Given the description of an element on the screen output the (x, y) to click on. 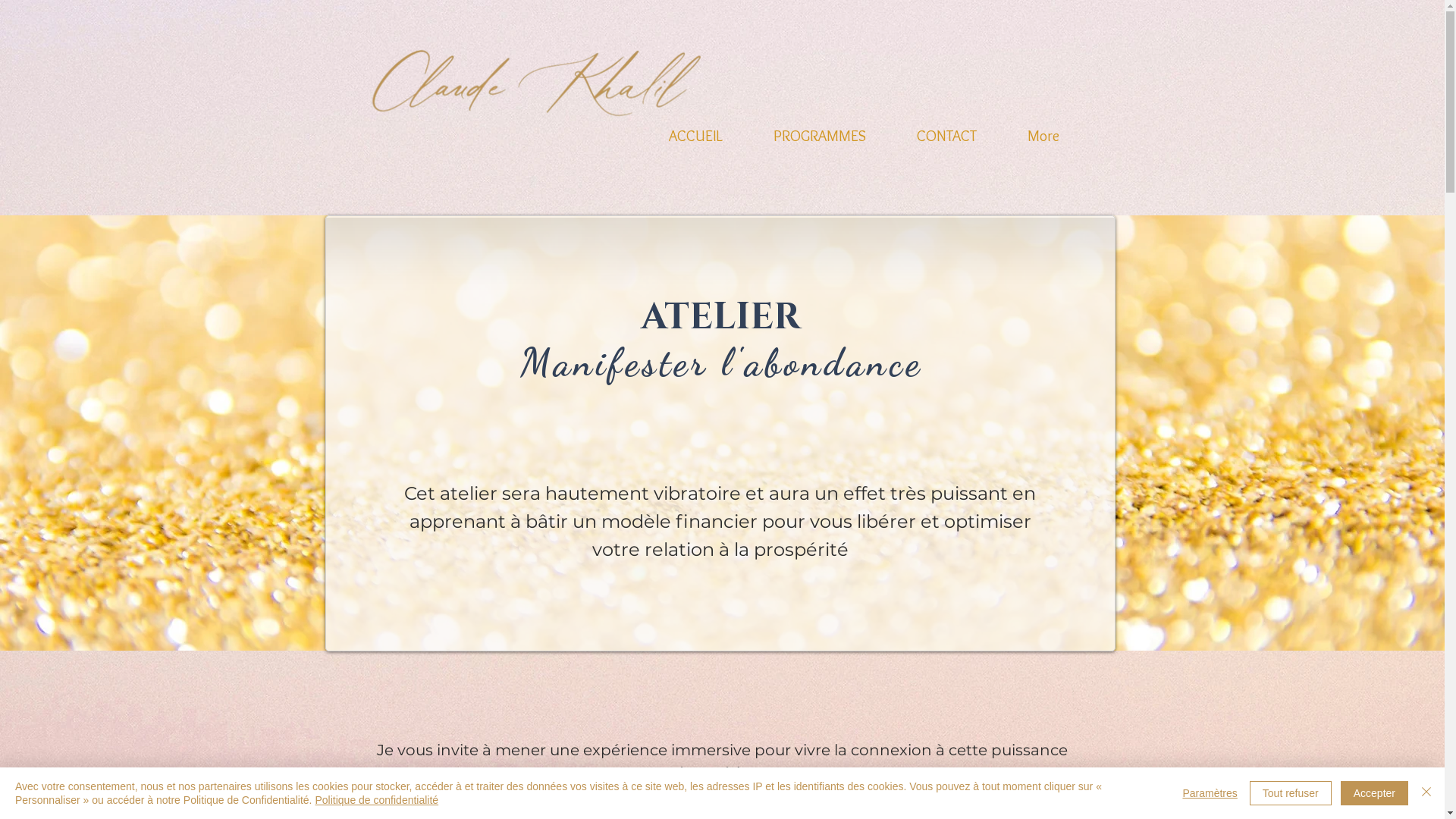
Tout refuser Element type: text (1290, 793)
Accepter Element type: text (1374, 793)
CONTACT Element type: text (946, 128)
ACCUEIL Element type: text (695, 128)
